Given the description of an element on the screen output the (x, y) to click on. 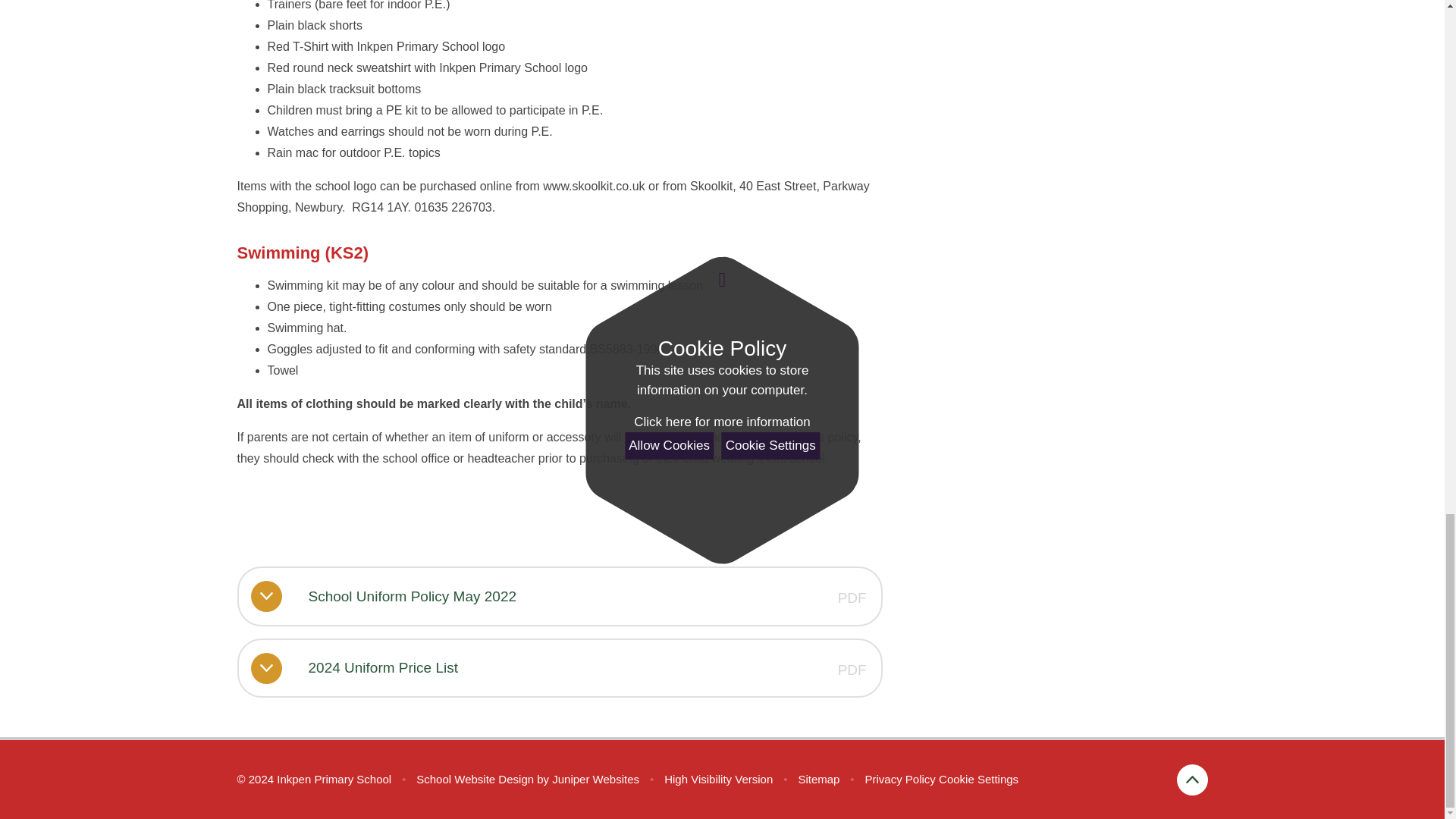
Cookie Settings (978, 779)
